Given the description of an element on the screen output the (x, y) to click on. 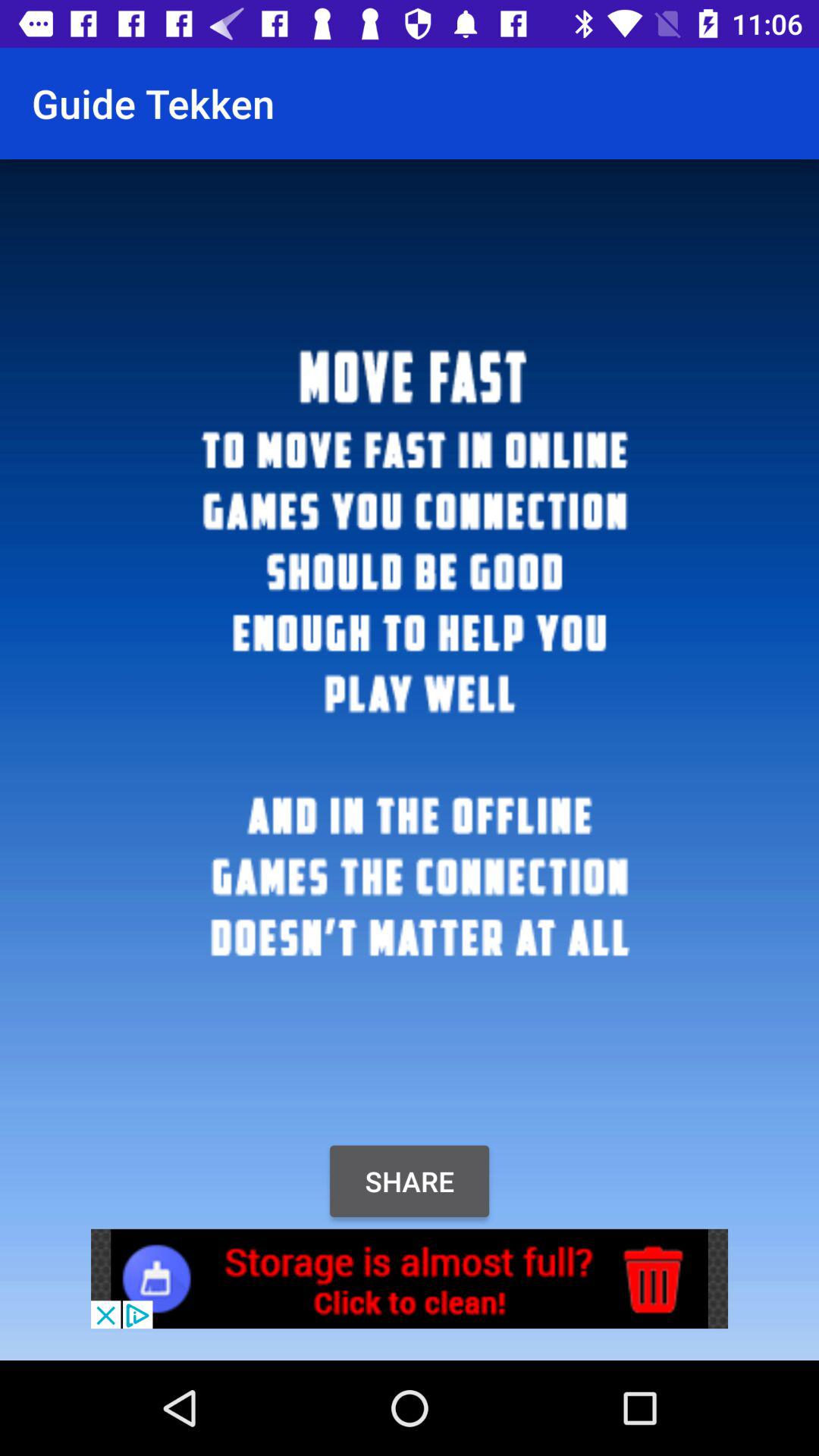
advertisement (409, 1278)
